Given the description of an element on the screen output the (x, y) to click on. 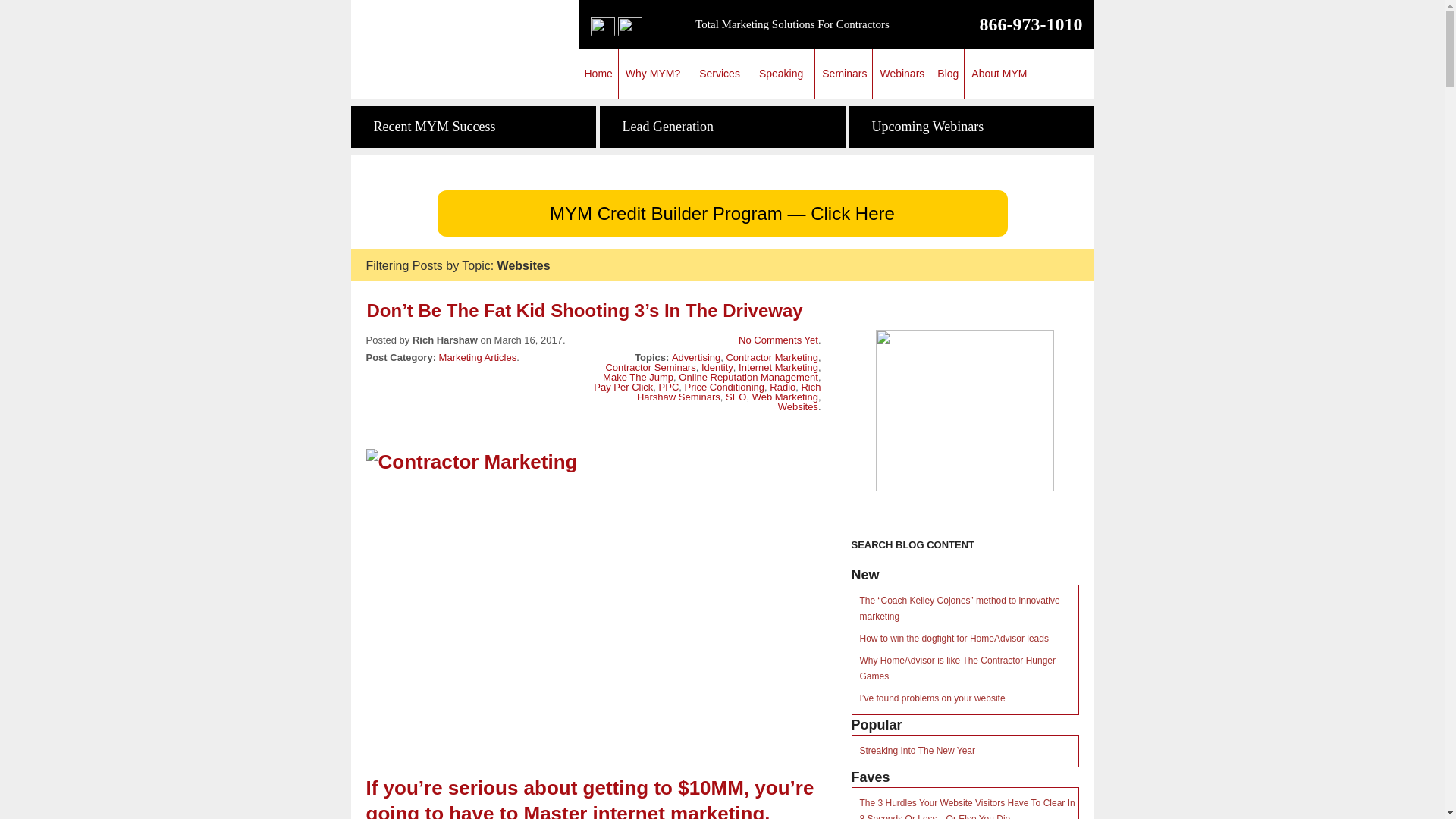
Services (721, 73)
Speaking (783, 73)
Why MYM? (655, 73)
